Given the description of an element on the screen output the (x, y) to click on. 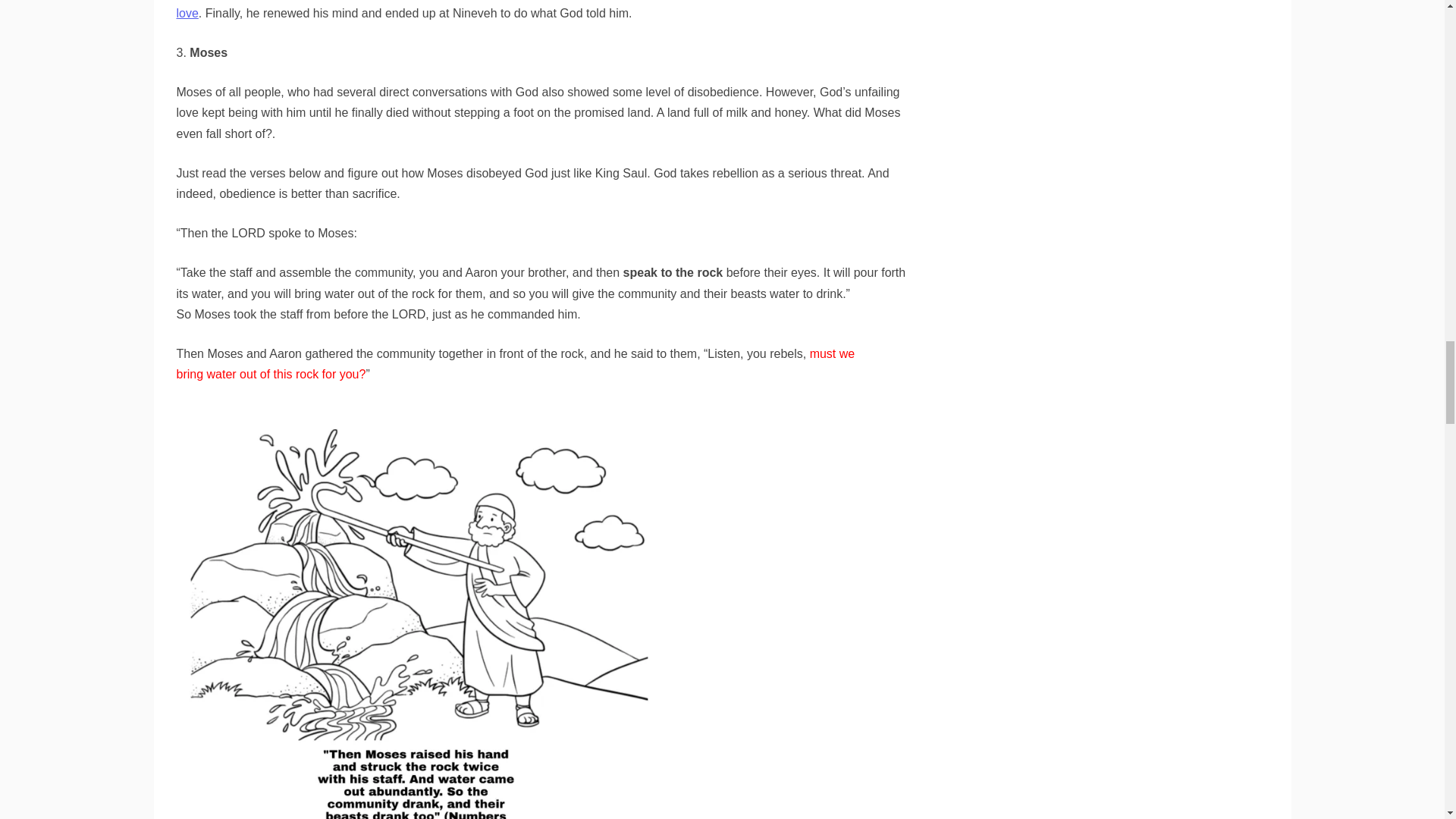
unfailing love (539, 9)
